Given the description of an element on the screen output the (x, y) to click on. 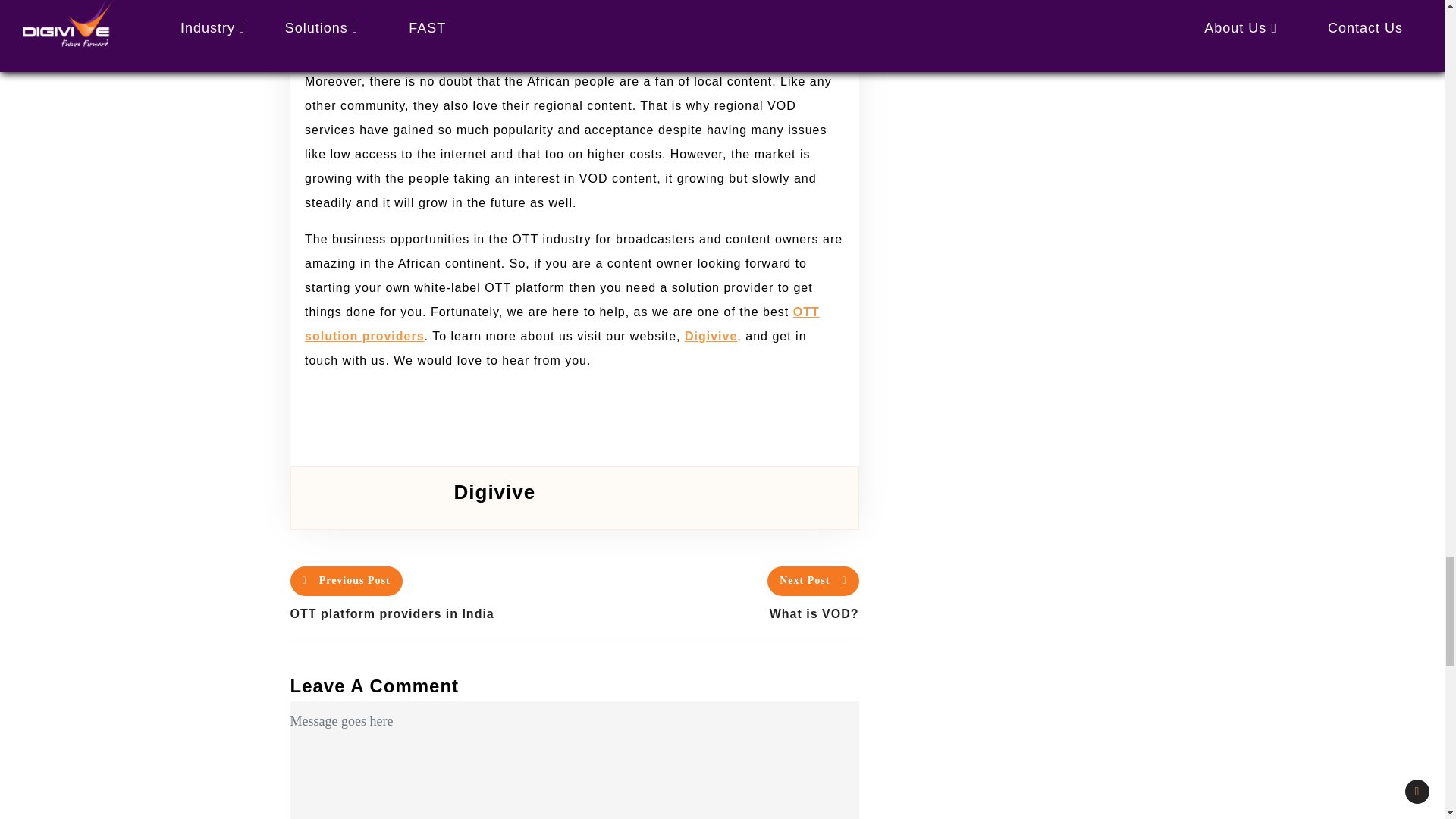
What is VOD? (717, 613)
OTT solution providers (561, 324)
OTT platform providers in India (431, 613)
Digivive (710, 336)
